Given the description of an element on the screen output the (x, y) to click on. 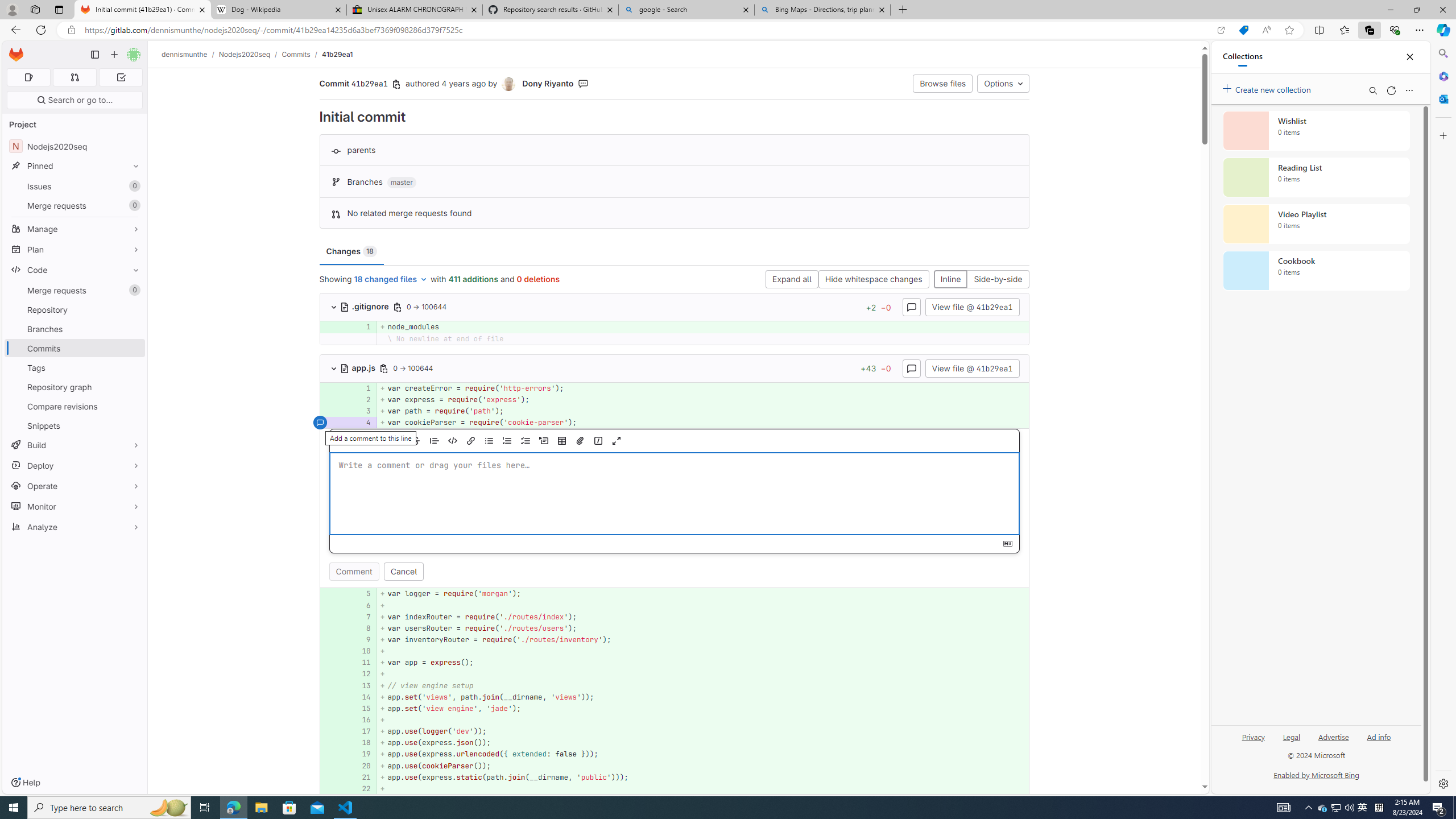
Branches (74, 328)
Dony Riyanto's avatar (508, 83)
1 (362, 387)
dennismunthe/ (189, 53)
5 (360, 594)
Plan (74, 248)
Inline (950, 279)
